Given the description of an element on the screen output the (x, y) to click on. 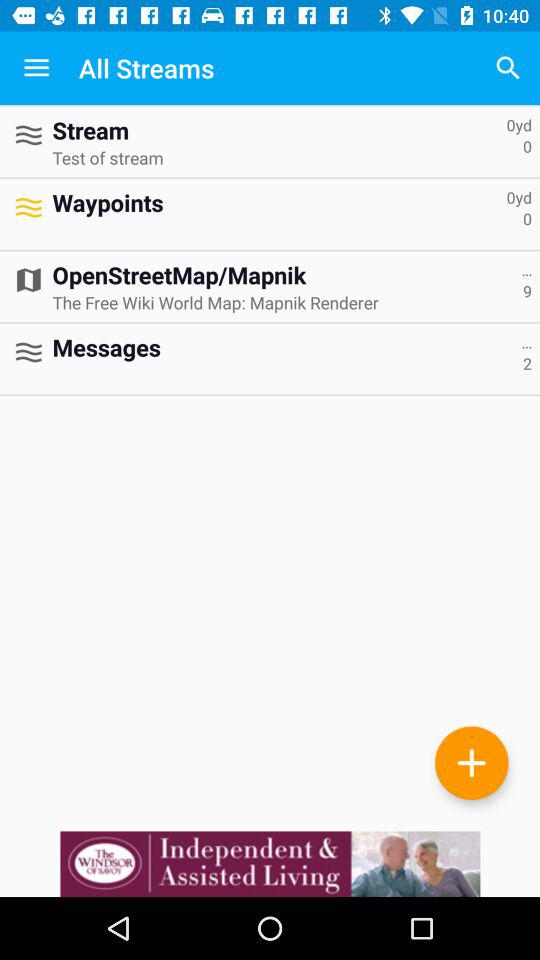
showing advertisements (270, 864)
